Given the description of an element on the screen output the (x, y) to click on. 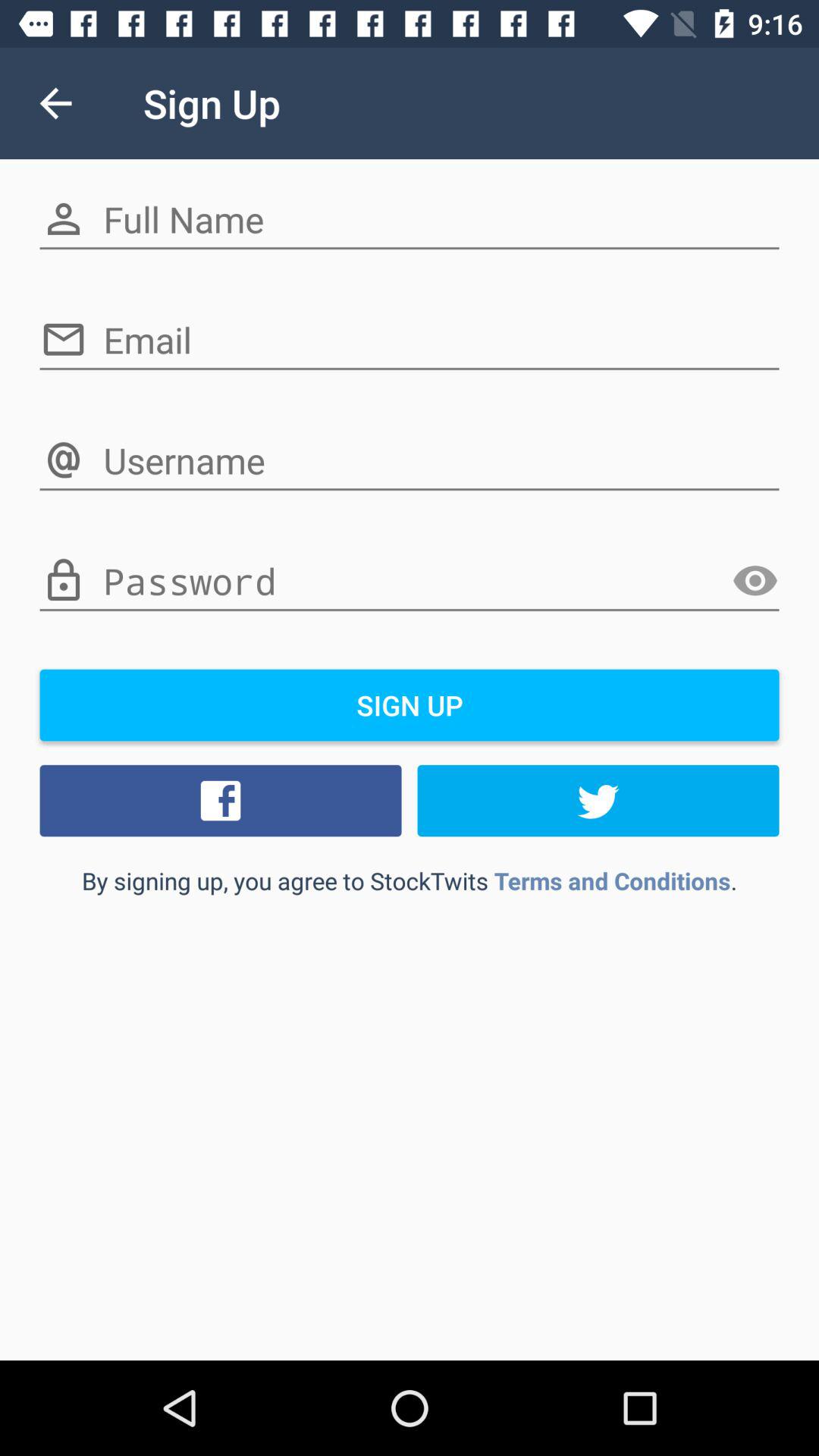
choose item above sign up item (755, 581)
